Given the description of an element on the screen output the (x, y) to click on. 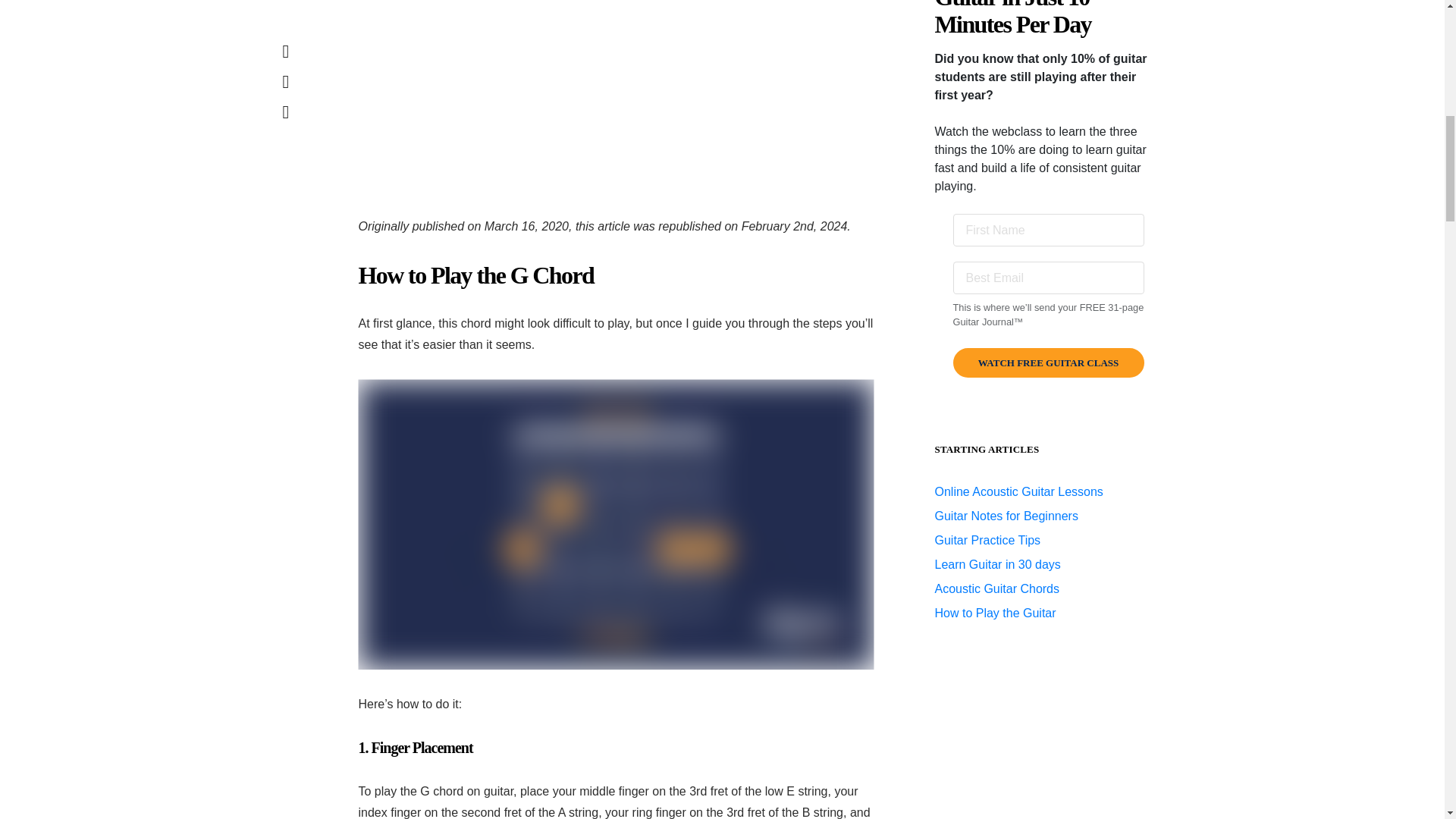
What G Chord Is Correct? (615, 95)
